Given the description of an element on the screen output the (x, y) to click on. 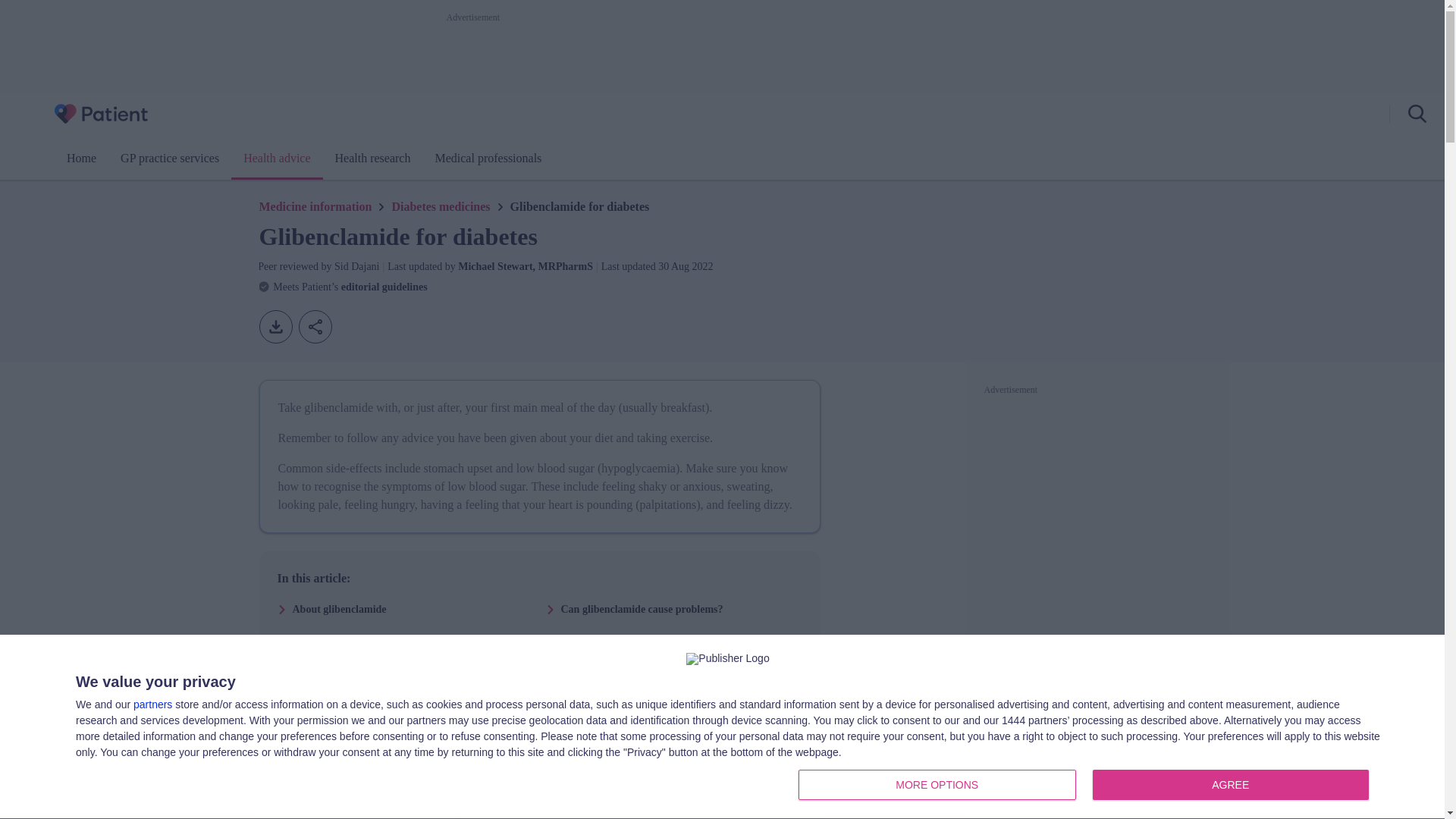
Home (81, 158)
GP practice services (169, 158)
Health advice (1086, 785)
Medical professionals (276, 158)
Health research (487, 158)
